Given the description of an element on the screen output the (x, y) to click on. 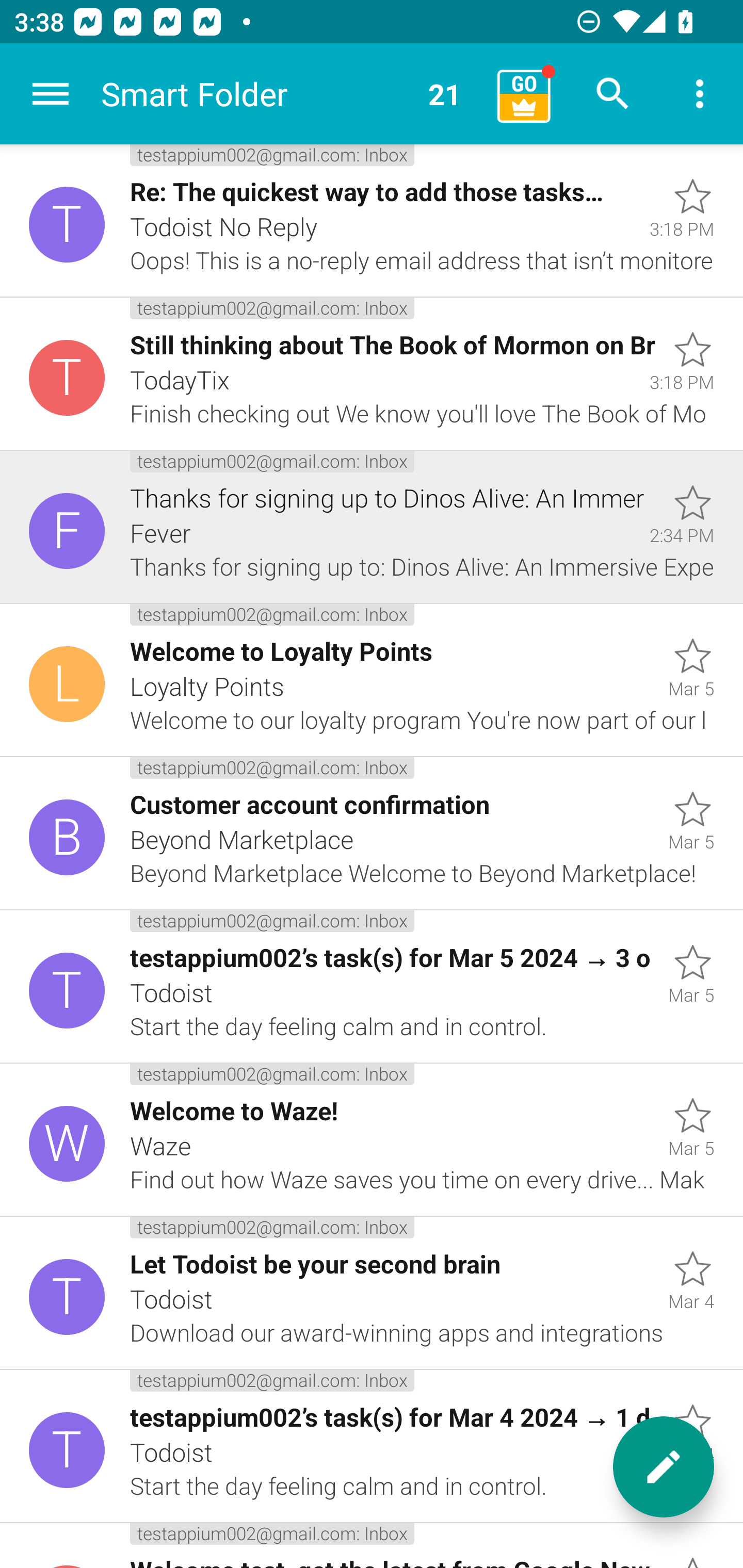
Navigate up (50, 93)
Smart Folder 21 (291, 93)
Search (612, 93)
More options (699, 93)
New message (663, 1466)
